Given the description of an element on the screen output the (x, y) to click on. 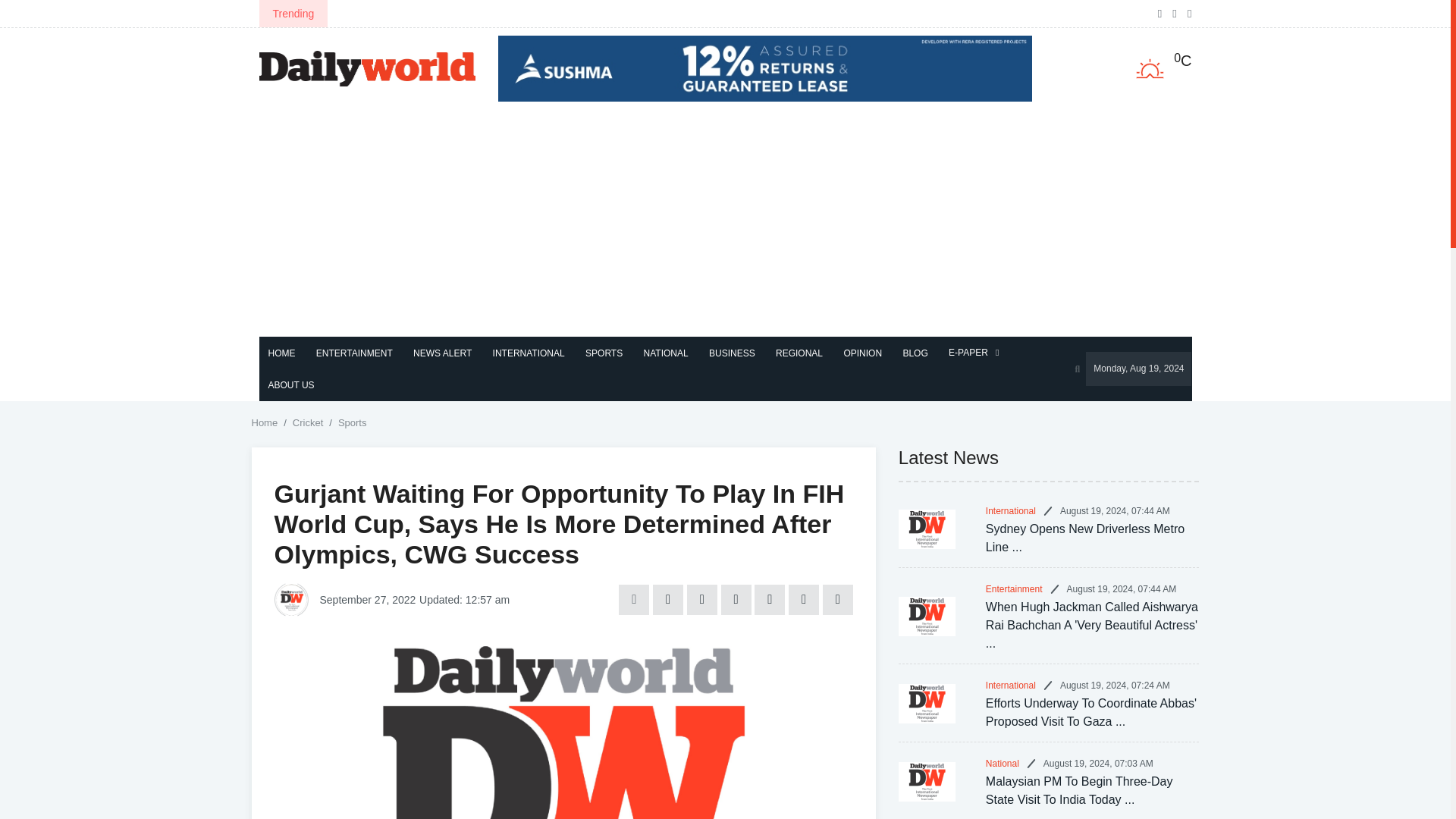
ENTERTAINMENT (354, 353)
Sydney Opens New Driverless Metro Line ... (1085, 537)
Home (264, 423)
Cricket (307, 423)
Sports (351, 423)
REGIONAL (799, 353)
ABOUT US (291, 385)
SPORTS (603, 353)
E-PAPER (971, 352)
INTERNATIONAL (528, 353)
